Given the description of an element on the screen output the (x, y) to click on. 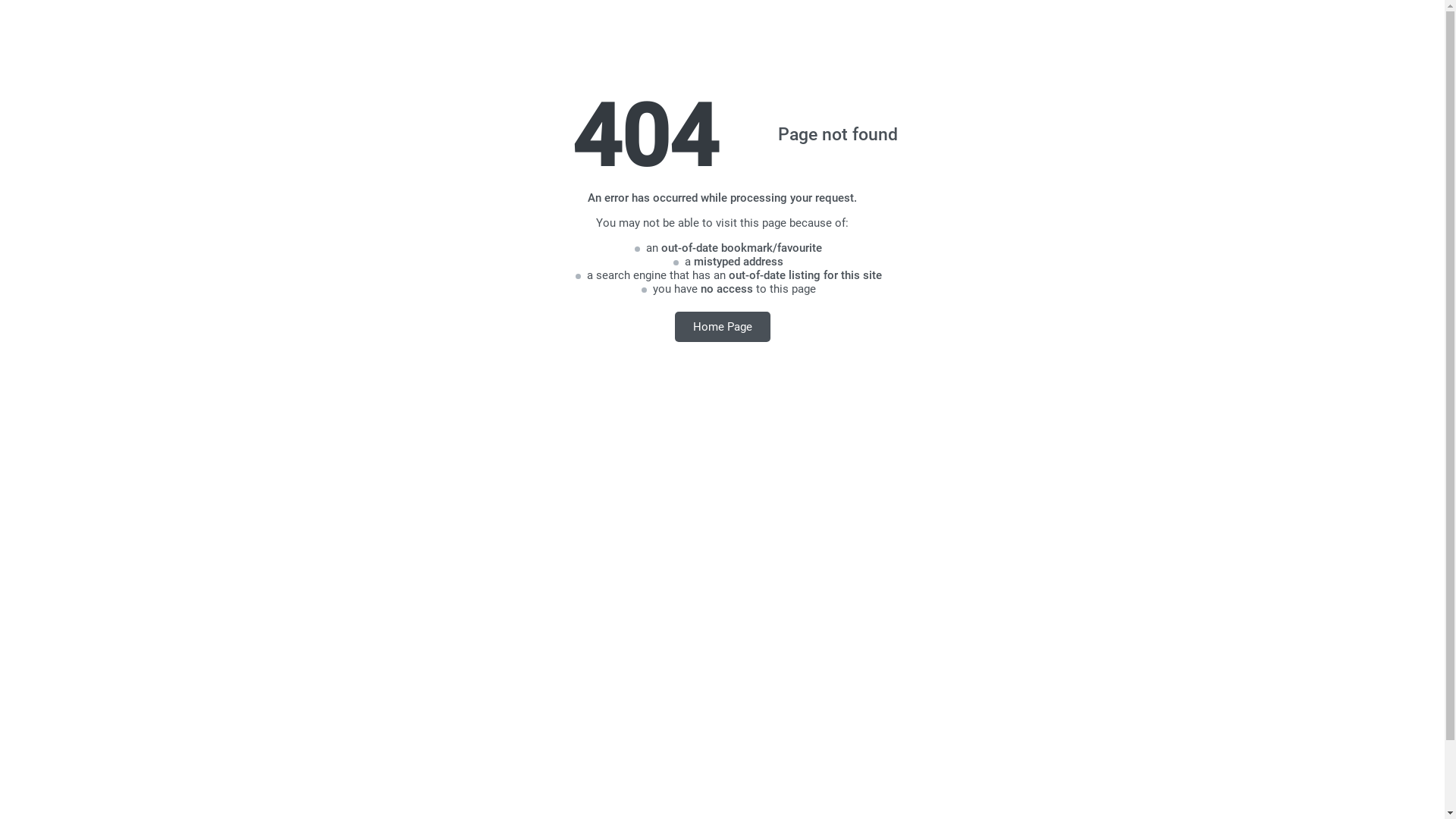
Home Page Element type: text (722, 326)
